Given the description of an element on the screen output the (x, y) to click on. 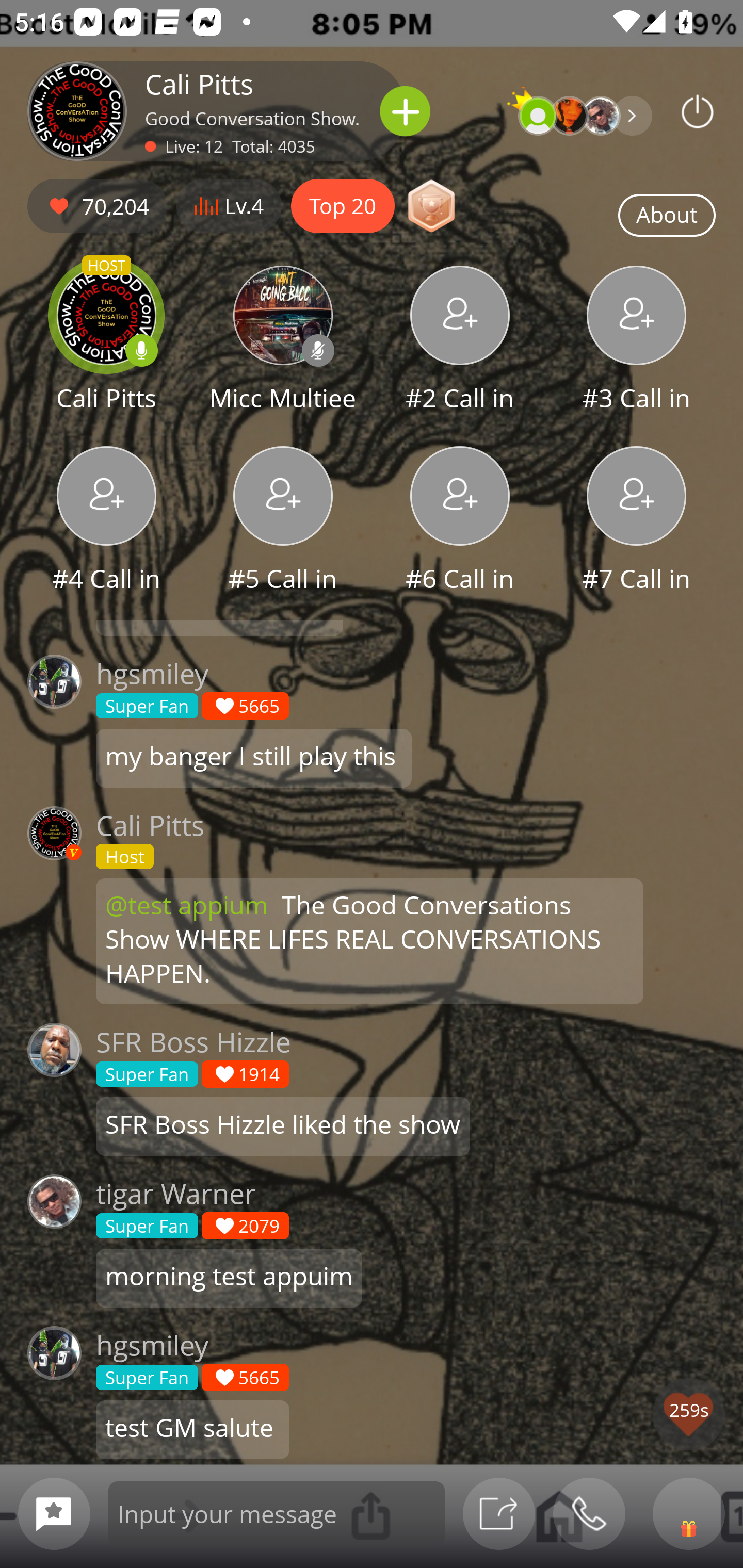
Podbean (697, 111)
About (666, 215)
HOST Cali Pitts (105, 340)
Micc Multiee (282, 340)
#2 Call in (459, 340)
#3 Call in (636, 340)
#4 Call in (105, 521)
#5 Call in (282, 521)
#6 Call in (459, 521)
#7 Call in (636, 521)
Input your message (276, 1513)
